Given the description of an element on the screen output the (x, y) to click on. 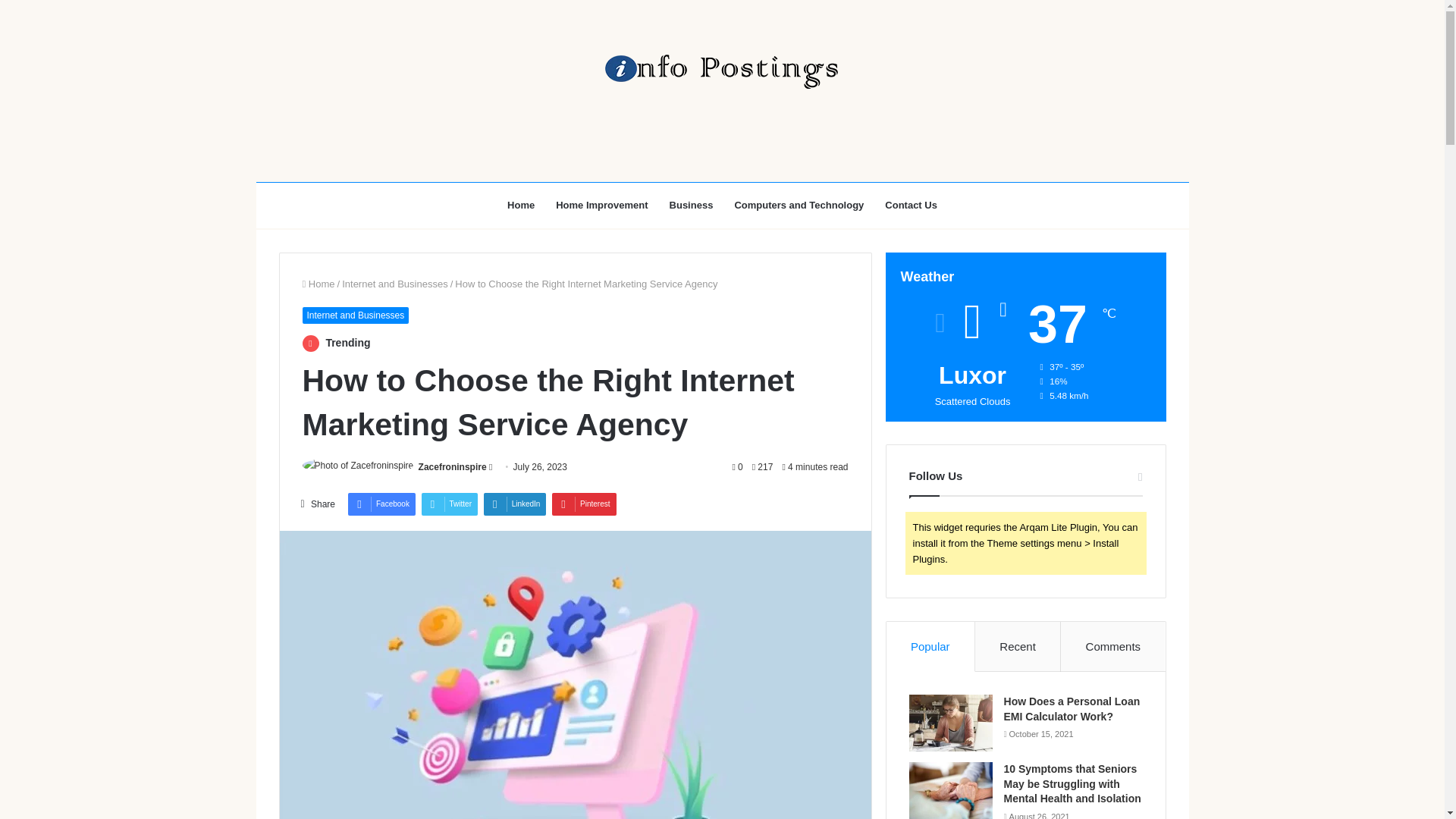
Home Improvement (601, 205)
LinkedIn (515, 504)
Pinterest (583, 504)
Info Postings (721, 71)
Home (317, 283)
Twitter (449, 504)
Facebook (380, 504)
Internet and Businesses (394, 283)
Internet and Businesses (355, 315)
Twitter (449, 504)
Home (520, 205)
Zacefroninspire (452, 466)
Business (691, 205)
Computers and Technology (799, 205)
LinkedIn (515, 504)
